Given the description of an element on the screen output the (x, y) to click on. 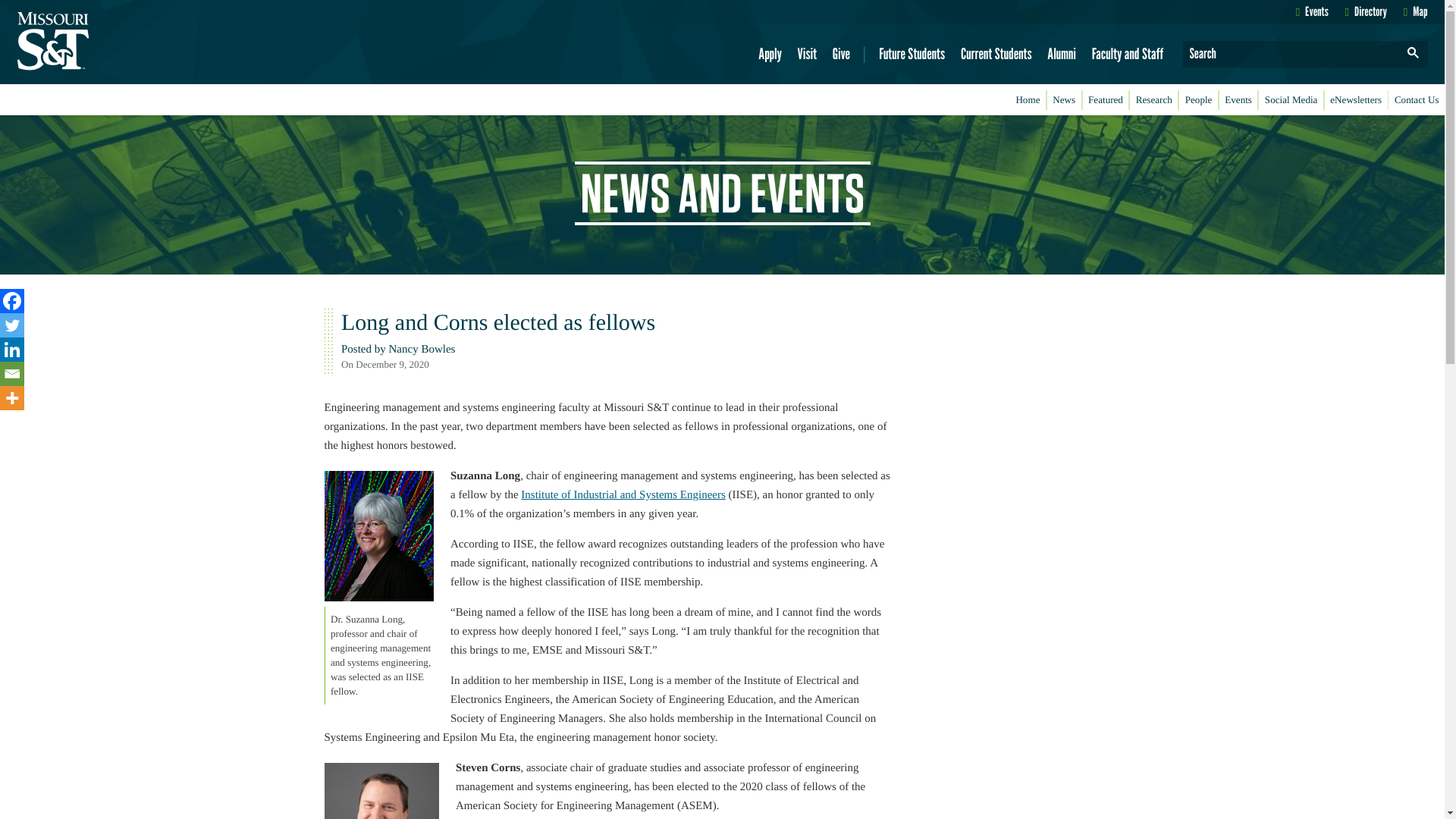
News and Events (722, 222)
More (12, 397)
Linkedin (12, 349)
Events (1311, 11)
Social Media (1291, 99)
Featured (1106, 99)
People (1198, 99)
Visit (806, 53)
Apply (769, 53)
Email (12, 373)
